Given the description of an element on the screen output the (x, y) to click on. 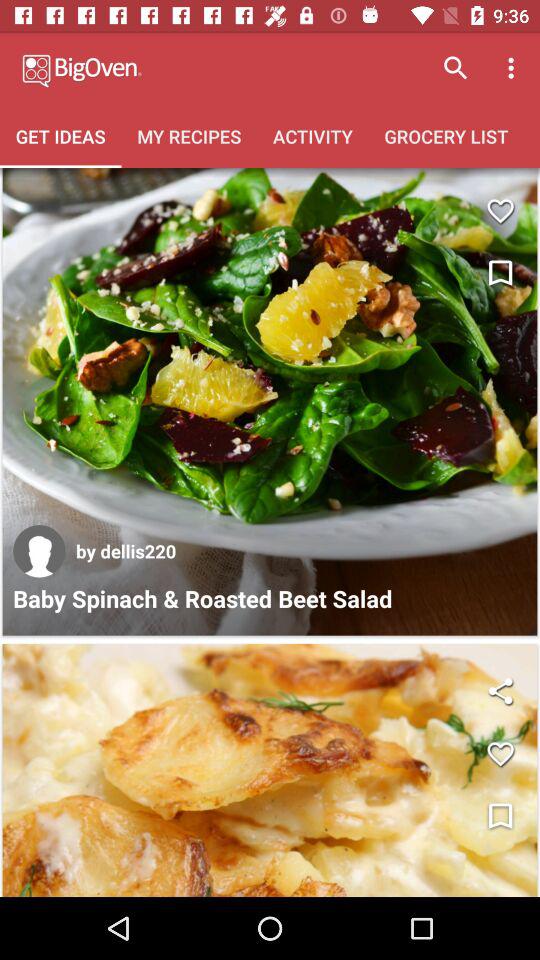
explore the recipe (269, 770)
